Given the description of an element on the screen output the (x, y) to click on. 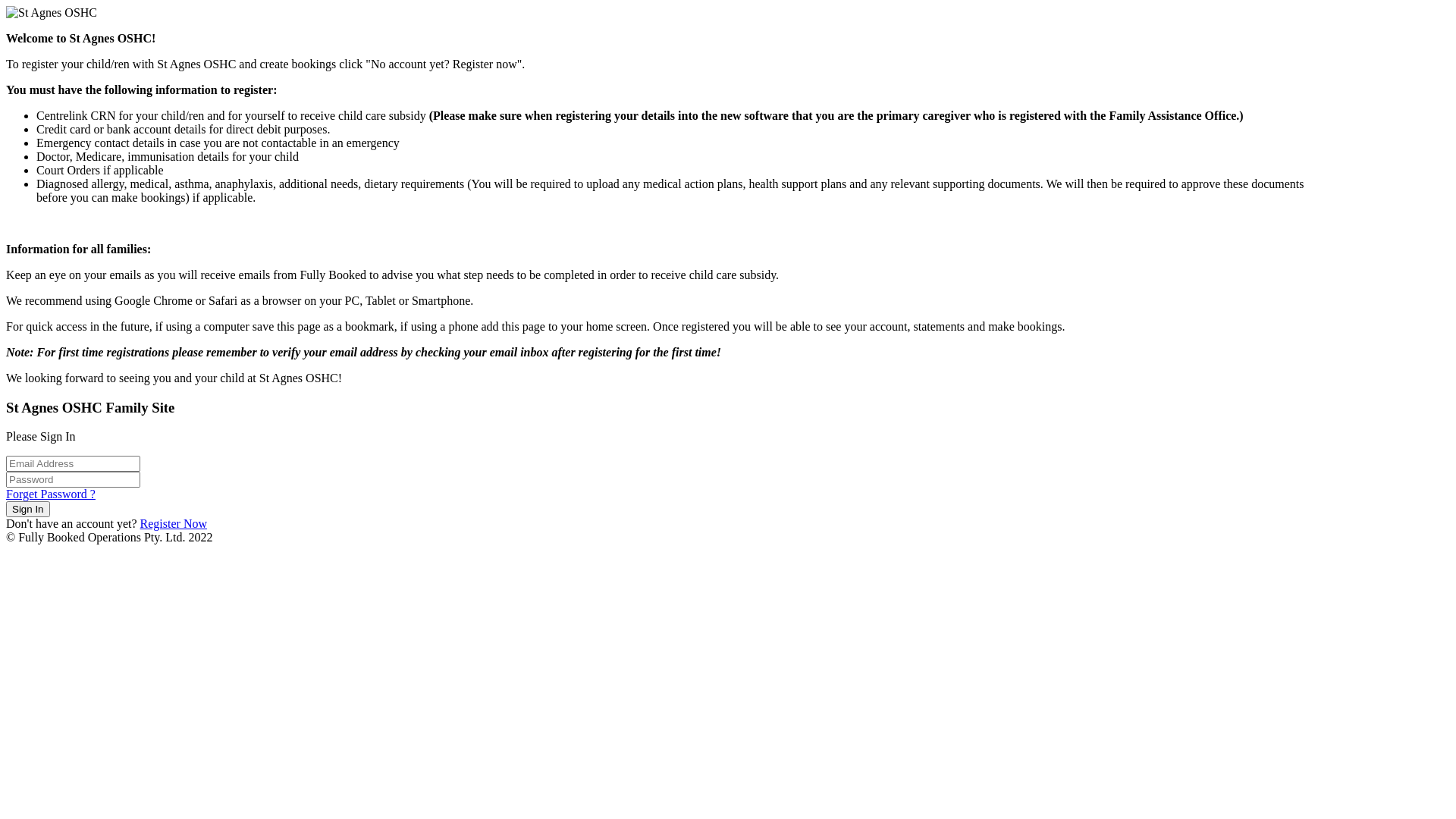
Sign In Element type: text (28, 509)
Register Now Element type: text (173, 523)
Forget Password ? Element type: text (50, 493)
